Given the description of an element on the screen output the (x, y) to click on. 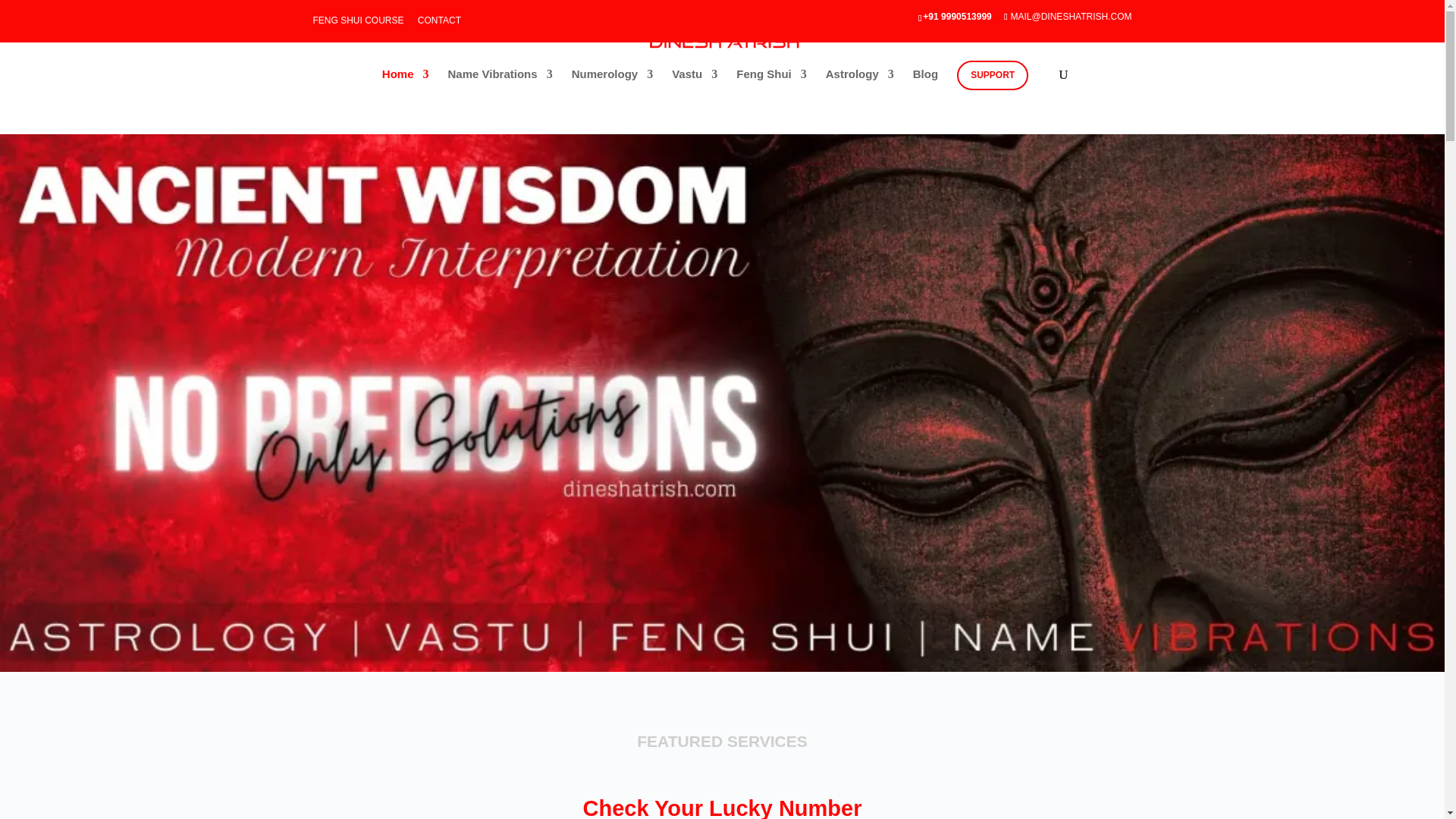
Home (405, 77)
Numerology (612, 77)
Feng Shui (771, 77)
FENG SHUI COURSE (358, 23)
CONTACT (439, 23)
Name Vibrations (500, 77)
Vastu (694, 77)
